Given the description of an element on the screen output the (x, y) to click on. 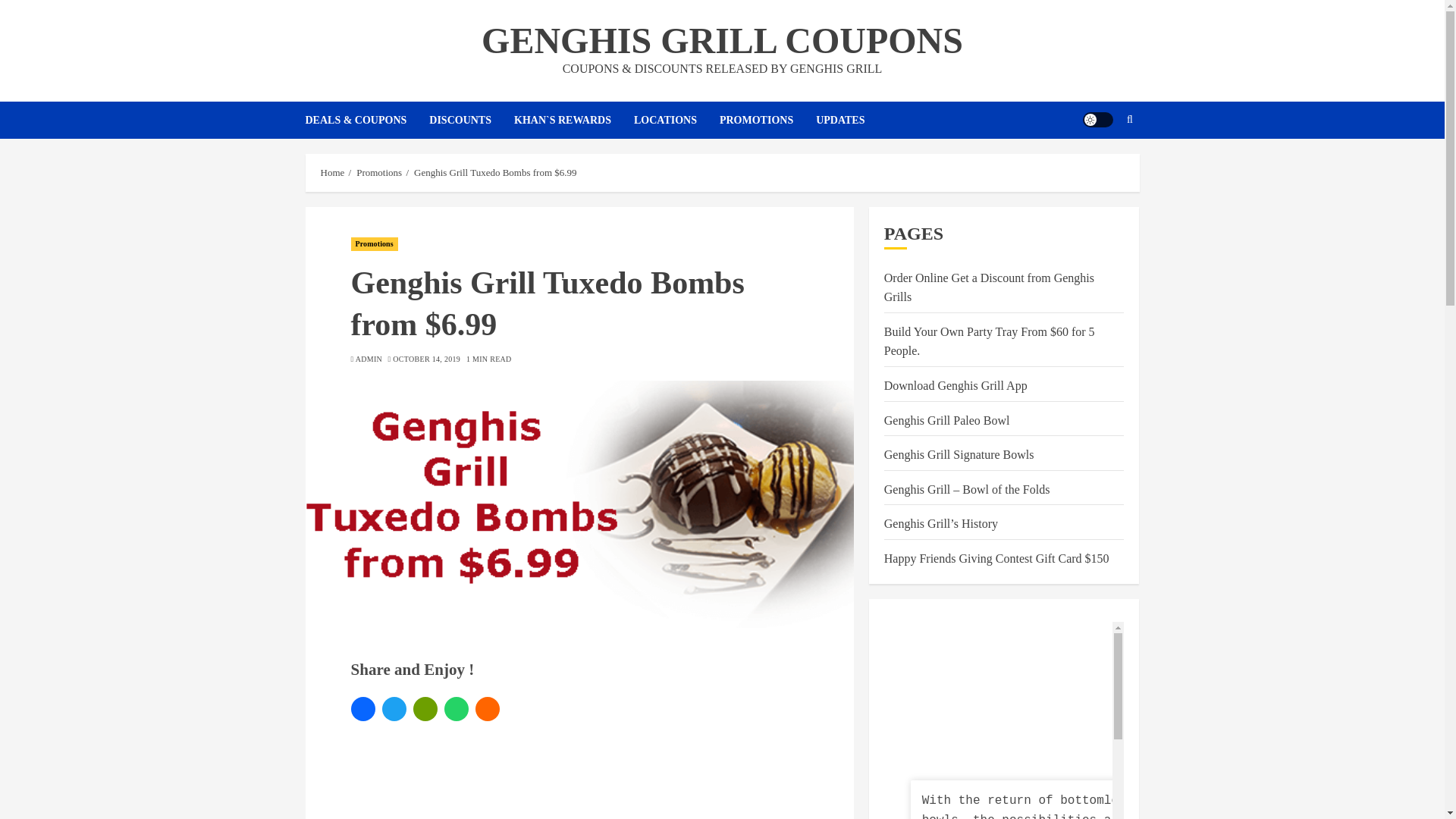
ADMIN (368, 358)
Home (331, 173)
Advertisement (477, 776)
OCTOBER 14, 2019 (426, 358)
PROMOTIONS (767, 119)
WhatsApp (456, 708)
Likebox Iframe (1051, 712)
Promotions (373, 243)
Share this on Facebook (362, 708)
Tweet this ! (393, 708)
Print this article  (424, 708)
DISCOUNTS (471, 119)
UPDATES (839, 119)
GENGHIS GRILL COUPONS (721, 40)
More share links (486, 708)
